Given the description of an element on the screen output the (x, y) to click on. 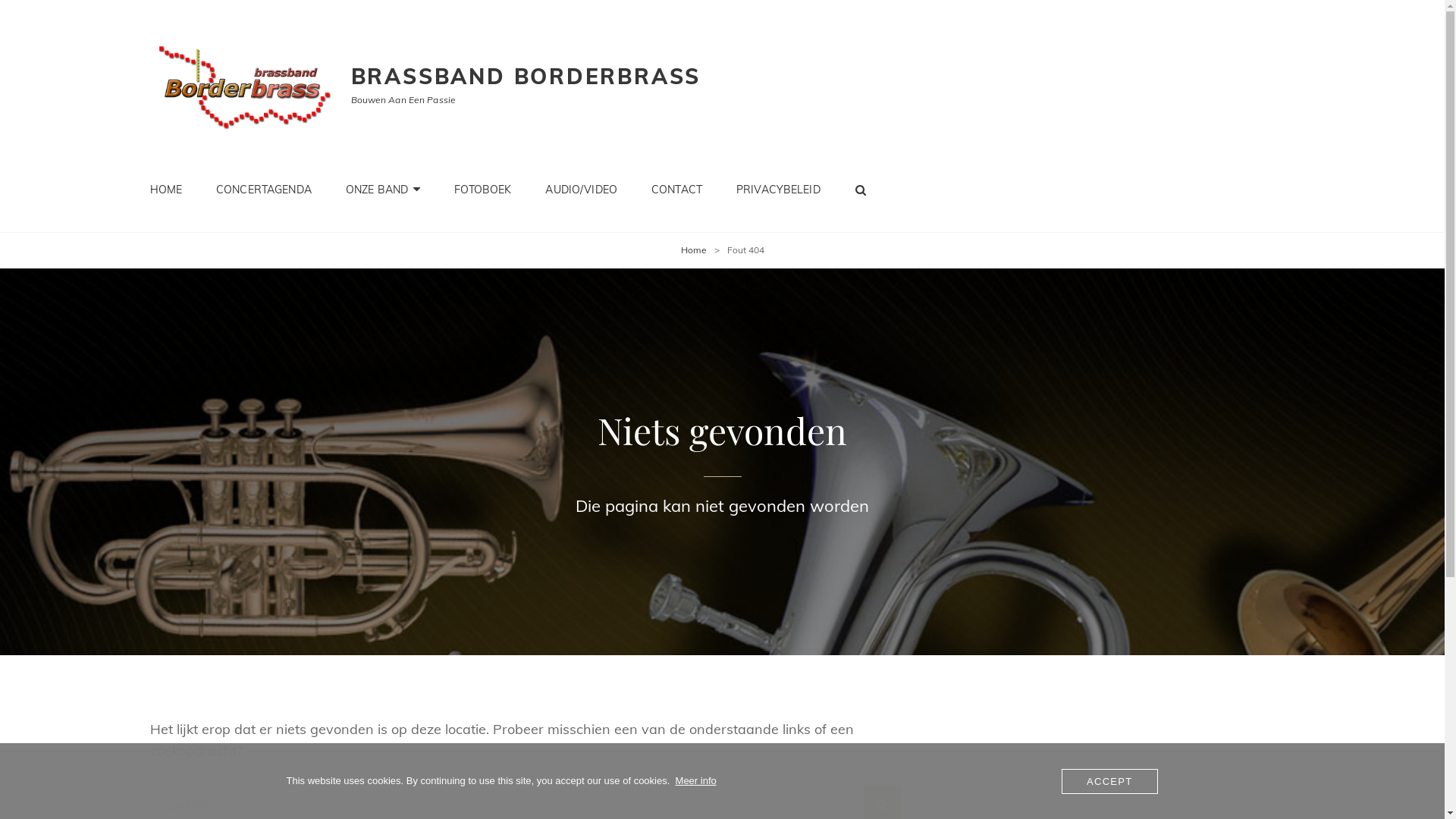
CONCERTAGENDA Element type: text (263, 189)
ONZE BAND Element type: text (382, 189)
BRASSBAND BORDERBRASS Element type: text (525, 75)
ZOEKEN Element type: text (861, 189)
CONTACT Element type: text (676, 189)
FOTOBOEK Element type: text (482, 189)
PRIVACYBELEID Element type: text (778, 189)
Home Element type: text (693, 249)
AUDIO/VIDEO Element type: text (581, 189)
HOME Element type: text (165, 189)
ACCEPT Element type: text (1109, 780)
Meer info Element type: text (695, 780)
